Given the description of an element on the screen output the (x, y) to click on. 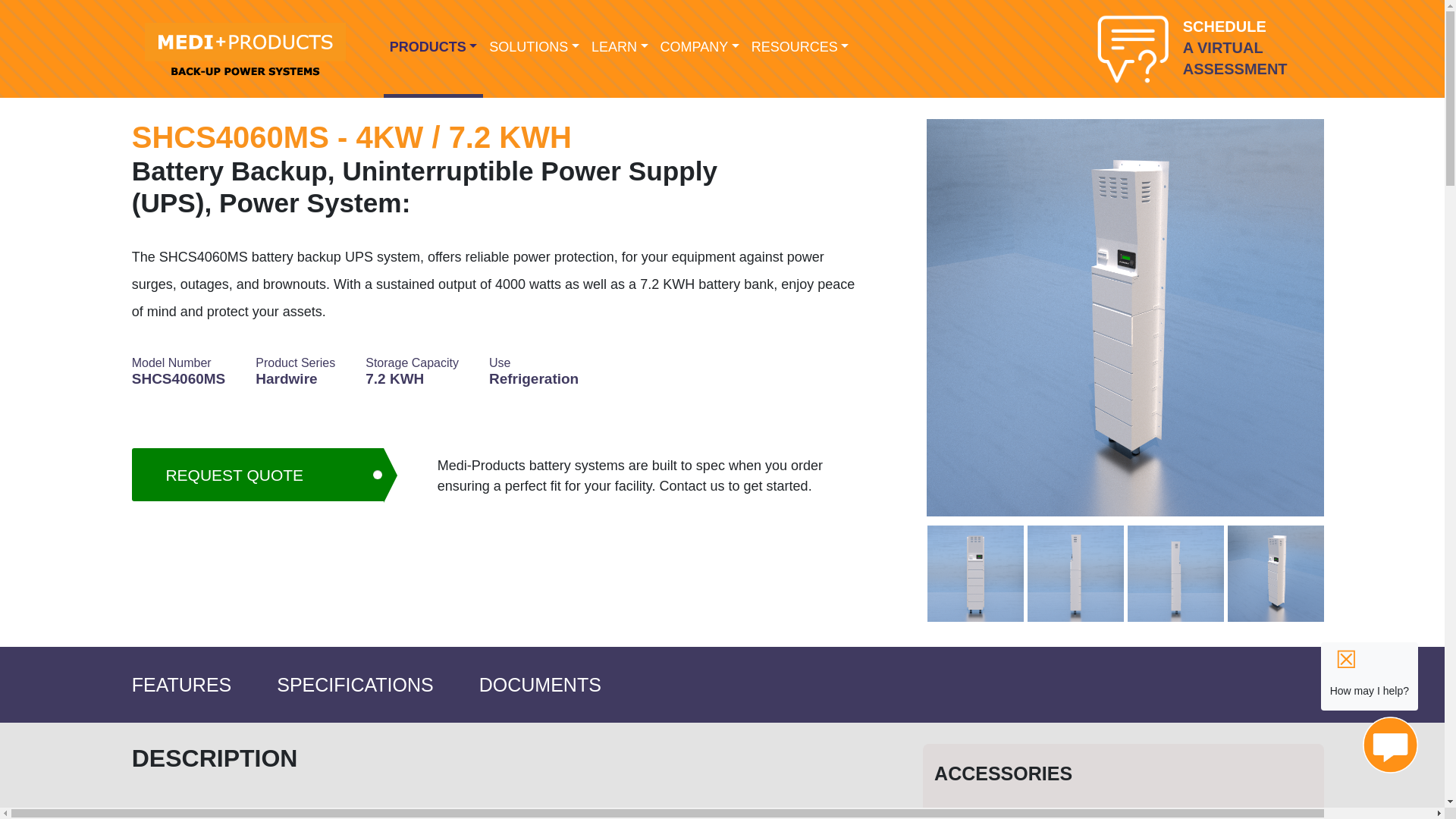
PRODUCTS (433, 48)
